Given the description of an element on the screen output the (x, y) to click on. 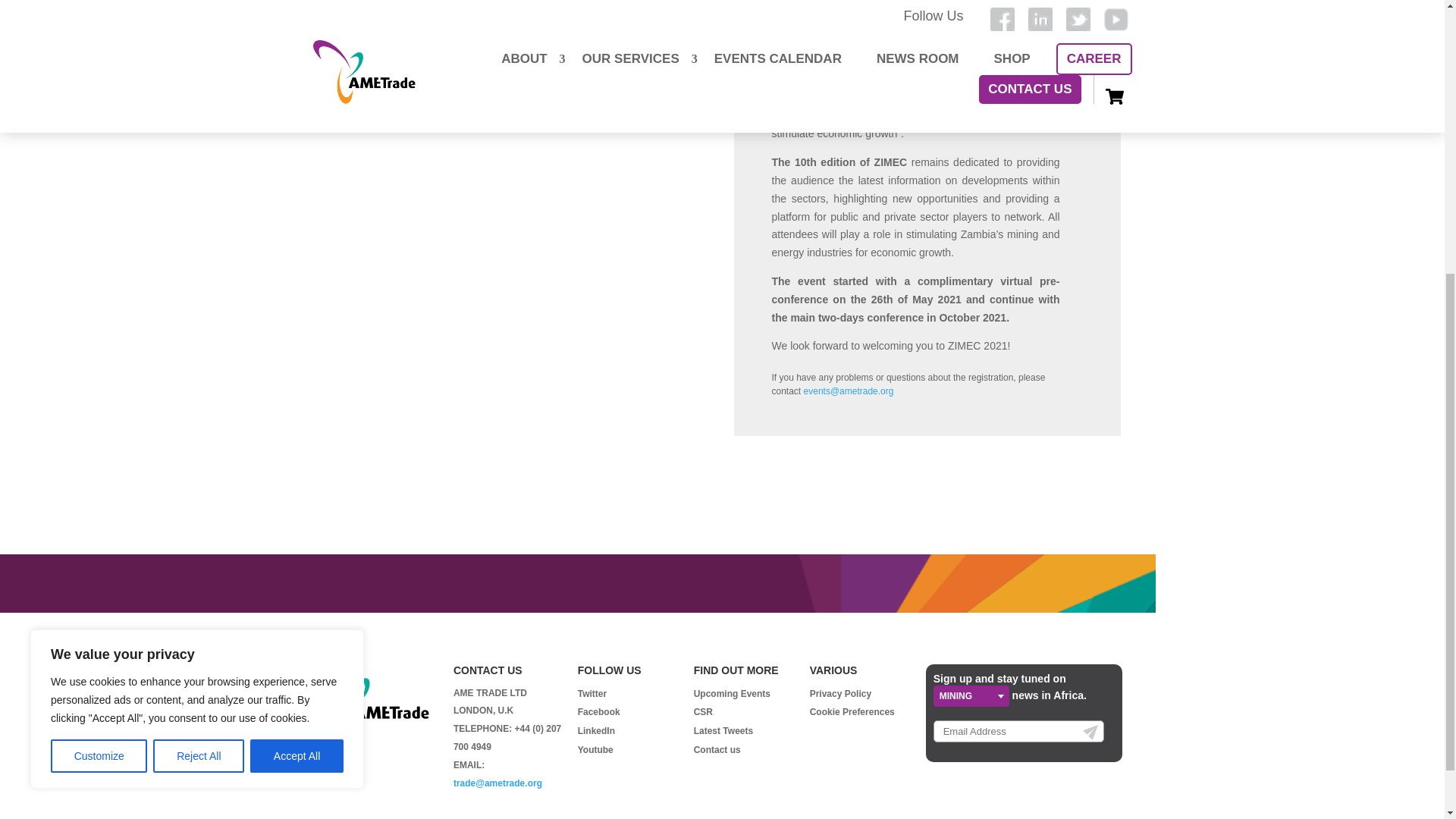
Reject All (198, 323)
Accept All (296, 323)
Customize (98, 323)
Mining (971, 695)
